Given the description of an element on the screen output the (x, y) to click on. 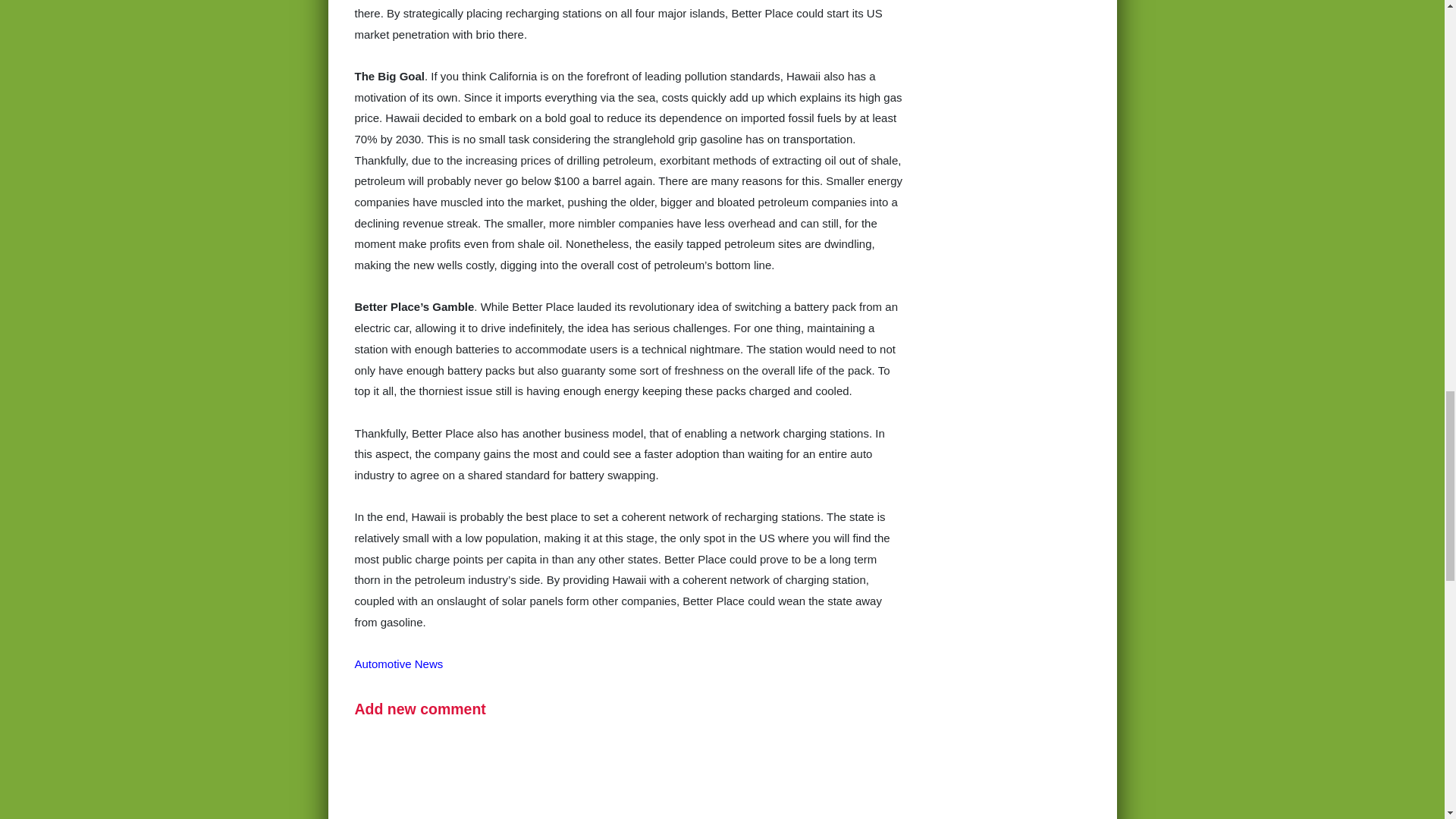
Automotive News (399, 663)
Add new comment (420, 709)
Advertisement (629, 781)
Share your thoughts and opinions. (420, 709)
